Given the description of an element on the screen output the (x, y) to click on. 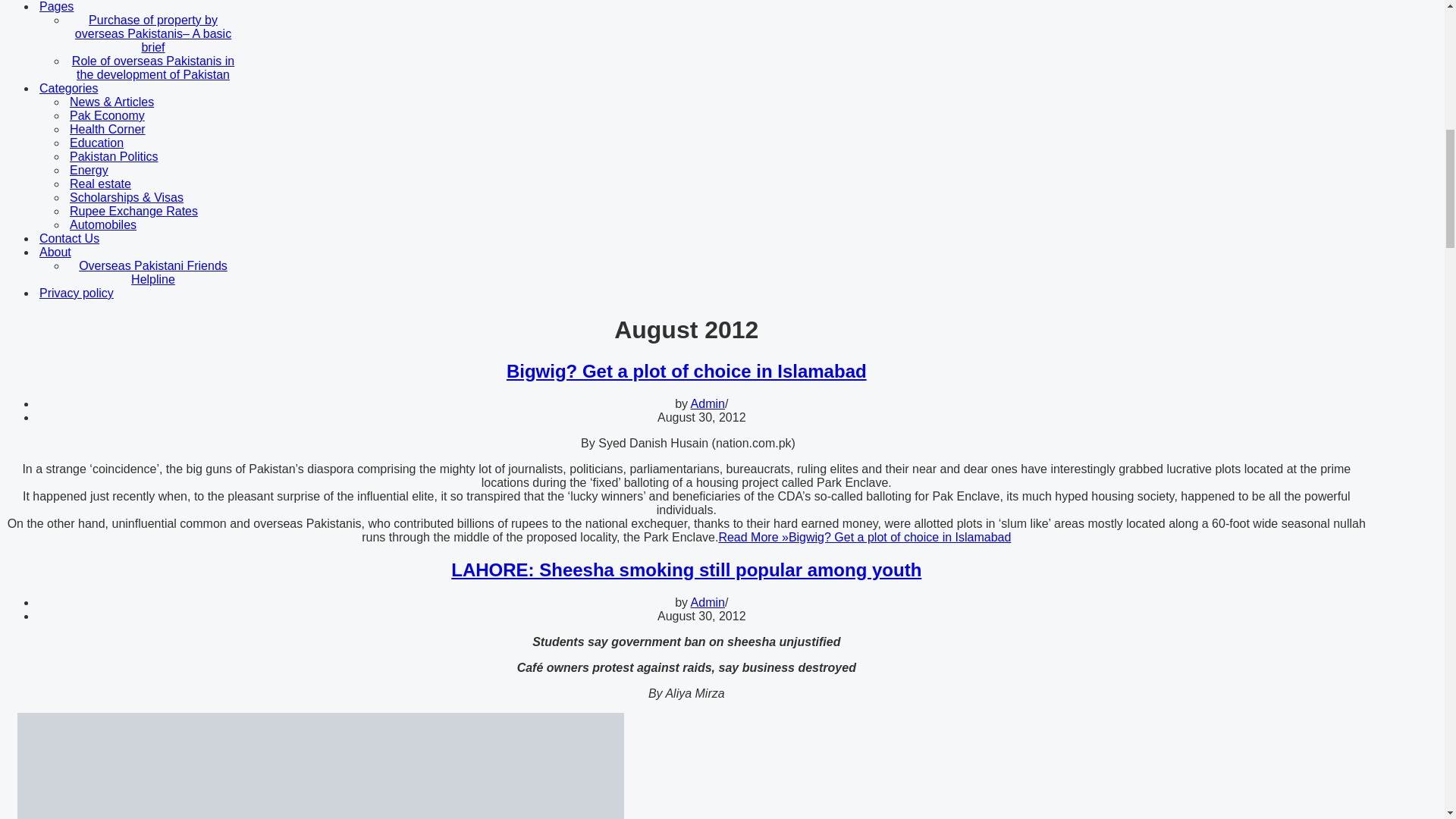
Health Corner (172, 129)
Pages (170, 6)
Role of overseas Pakistanis in the development of Pakistan (172, 67)
Education (172, 142)
Posts by Admin (707, 403)
Rupee Exchange Rates (172, 211)
Pak Economy (172, 115)
Energy (172, 170)
Categories (170, 88)
Pakistan Politics (172, 156)
Posts by Admin (707, 602)
Real estate (172, 183)
sheesha (320, 765)
